Given the description of an element on the screen output the (x, y) to click on. 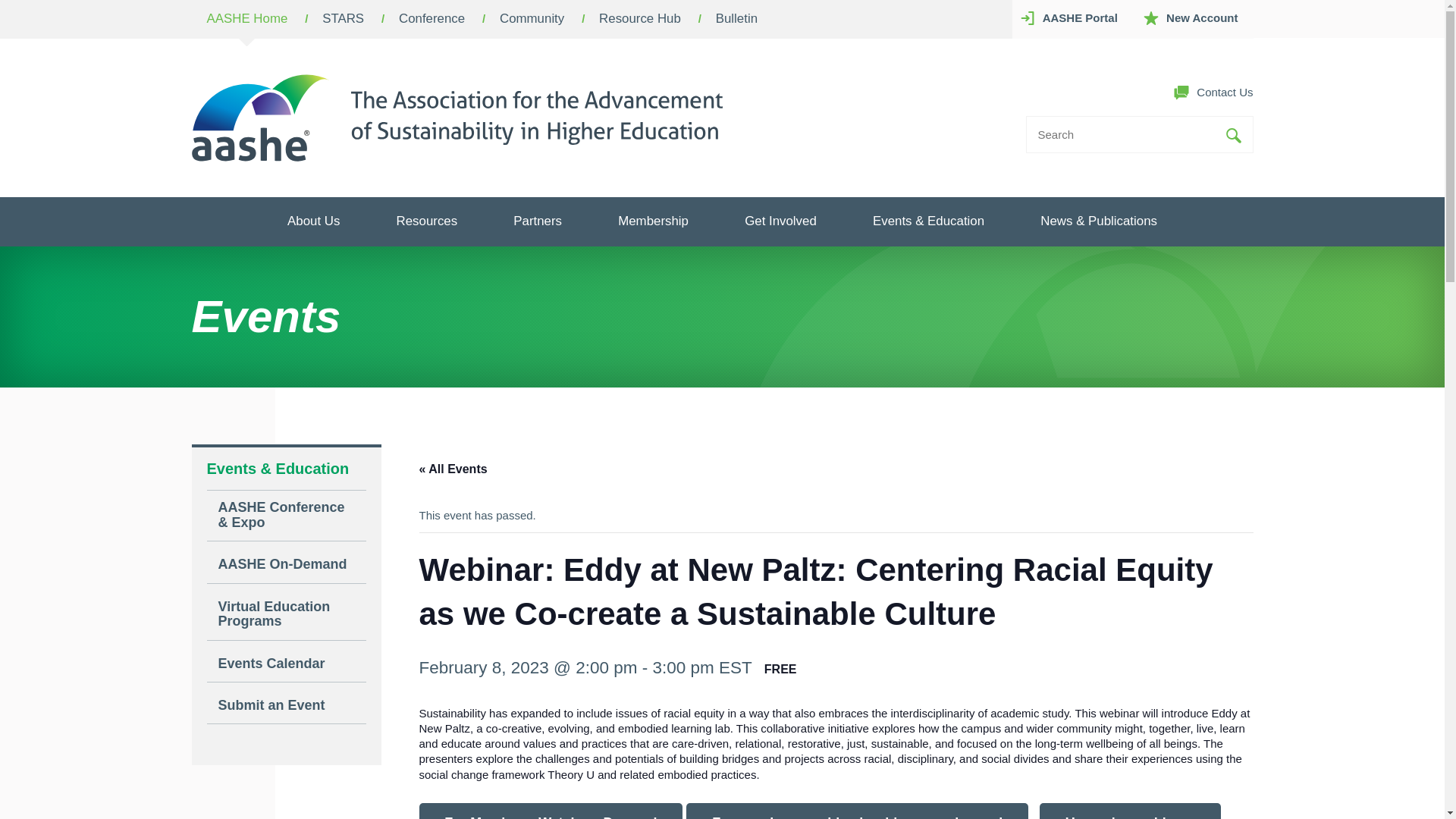
Membership (652, 221)
STARS (342, 19)
Partners (537, 221)
About Us (313, 221)
Search (1232, 134)
Community (531, 19)
New Account (1193, 18)
Resources (426, 221)
Search (1232, 134)
Bulletin (736, 19)
Conference (431, 19)
Search for: (1121, 133)
AASHE Portal (1071, 18)
AASHE Home (246, 19)
Resource Hub (639, 19)
